Given the description of an element on the screen output the (x, y) to click on. 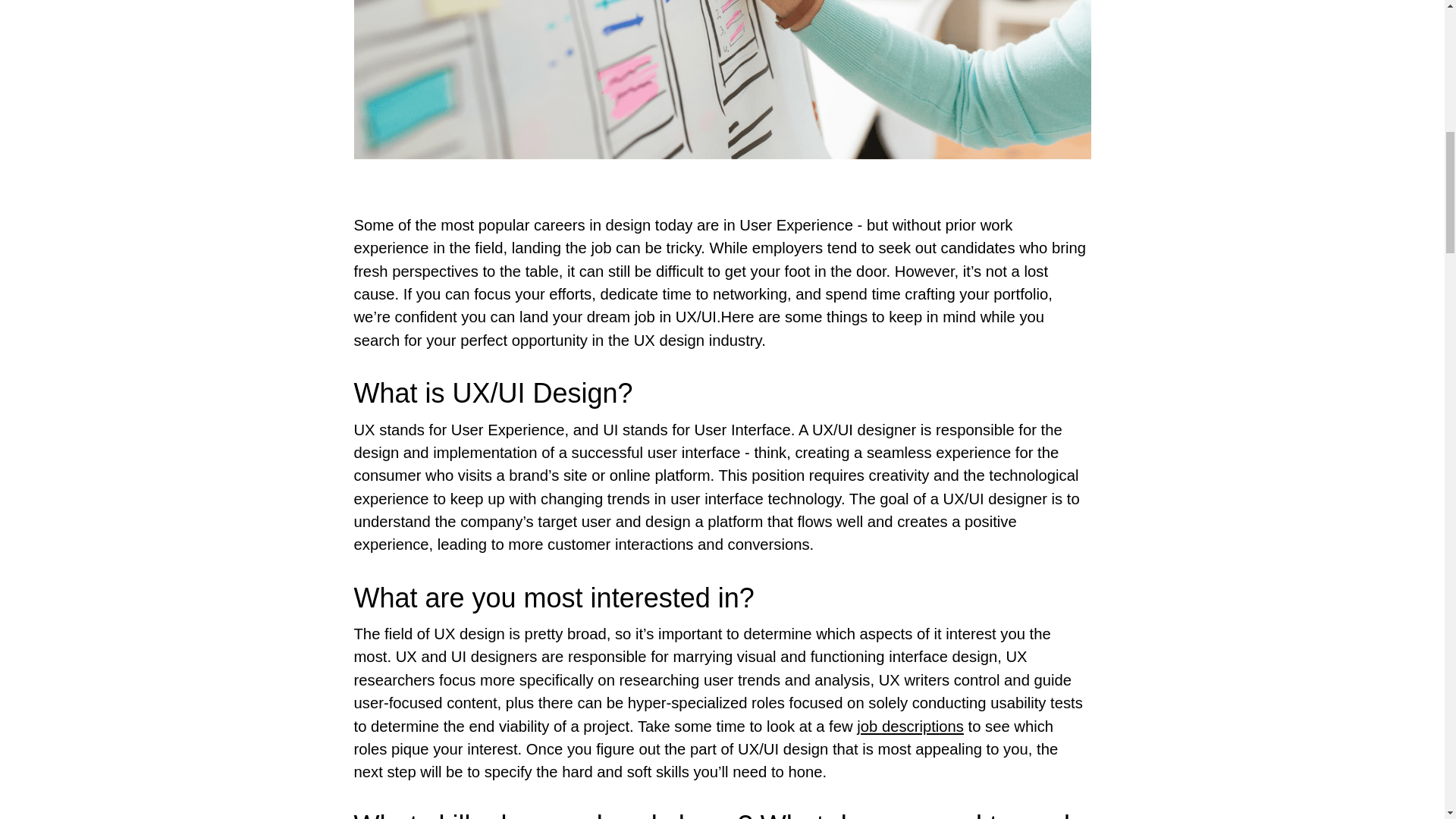
job descriptions (910, 726)
